Given the description of an element on the screen output the (x, y) to click on. 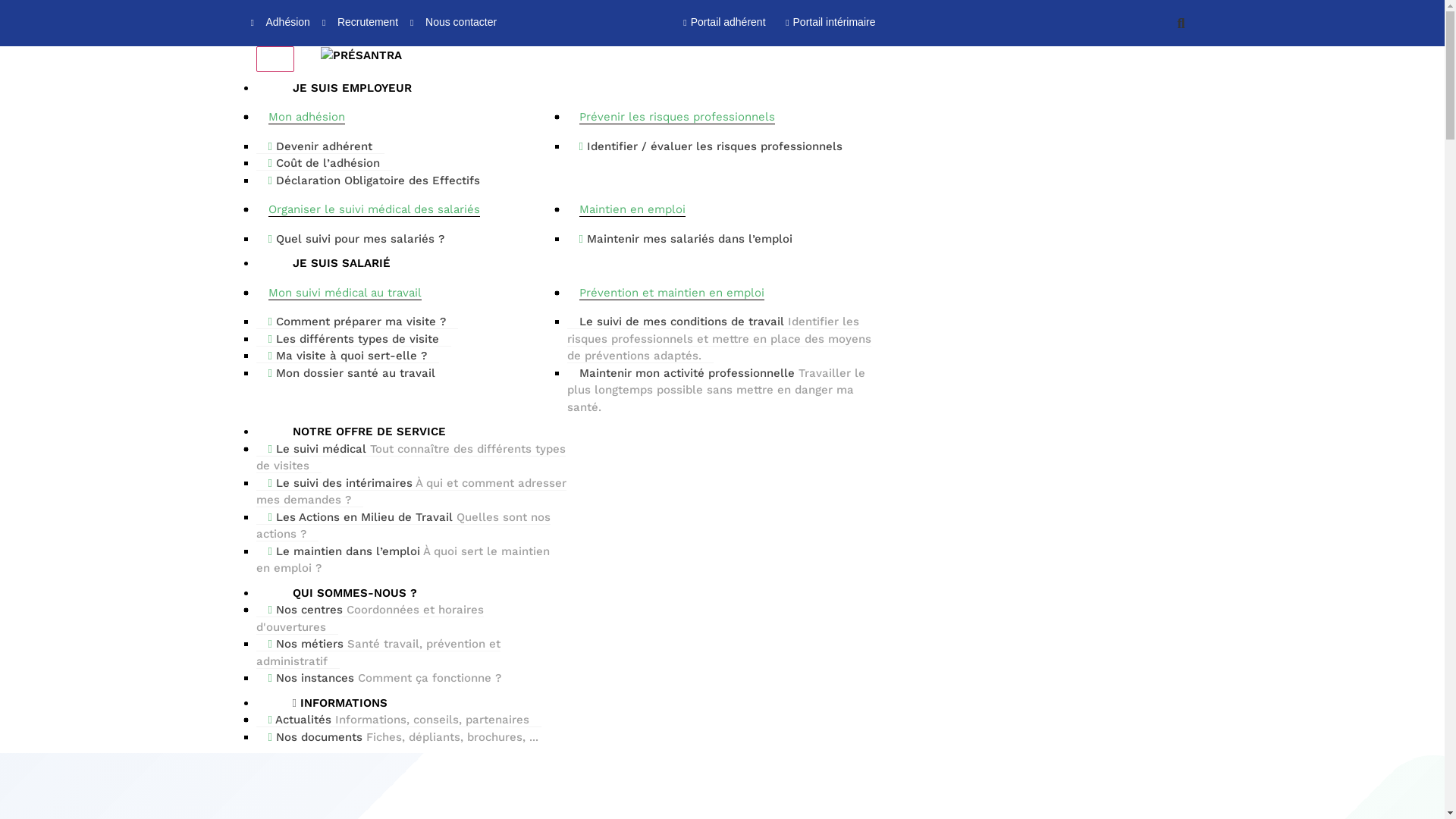
Recherche Element type: hover (1184, 22)
Les Actions en Milieu de Travail Quelles sont nos actions ? Element type: text (403, 526)
JE SUIS EMPLOYEUR Element type: text (339, 87)
NOTRE OFFRE DE SERVICE Element type: text (357, 431)
INFORMATIONS Element type: text (327, 702)
QUI SOMMES-NOUS ? Element type: text (342, 592)
Recrutement Element type: text (360, 22)
Nous contacter Element type: text (453, 22)
